Given the description of an element on the screen output the (x, y) to click on. 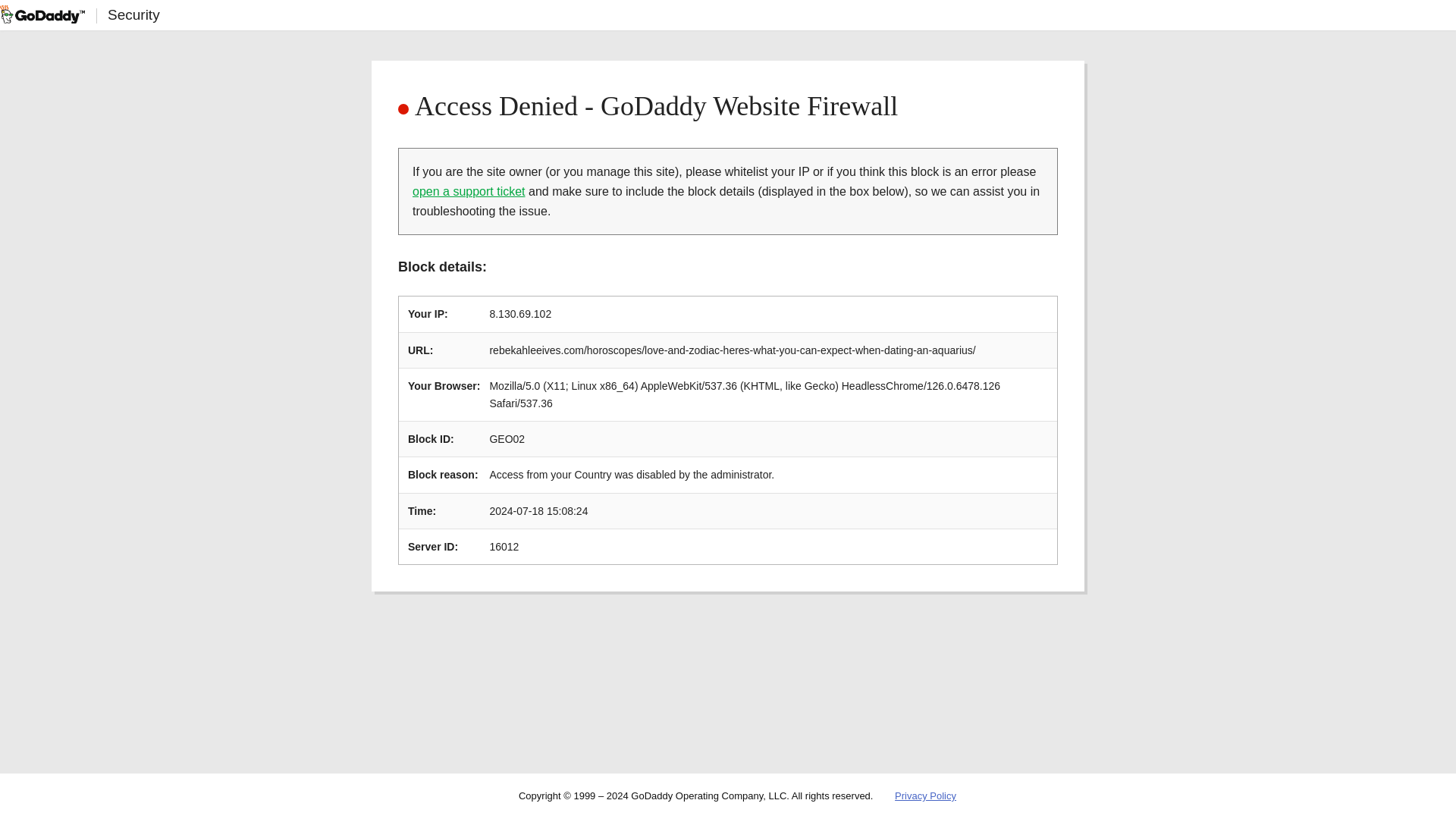
open a support ticket (468, 191)
Privacy Policy (925, 795)
